Given the description of an element on the screen output the (x, y) to click on. 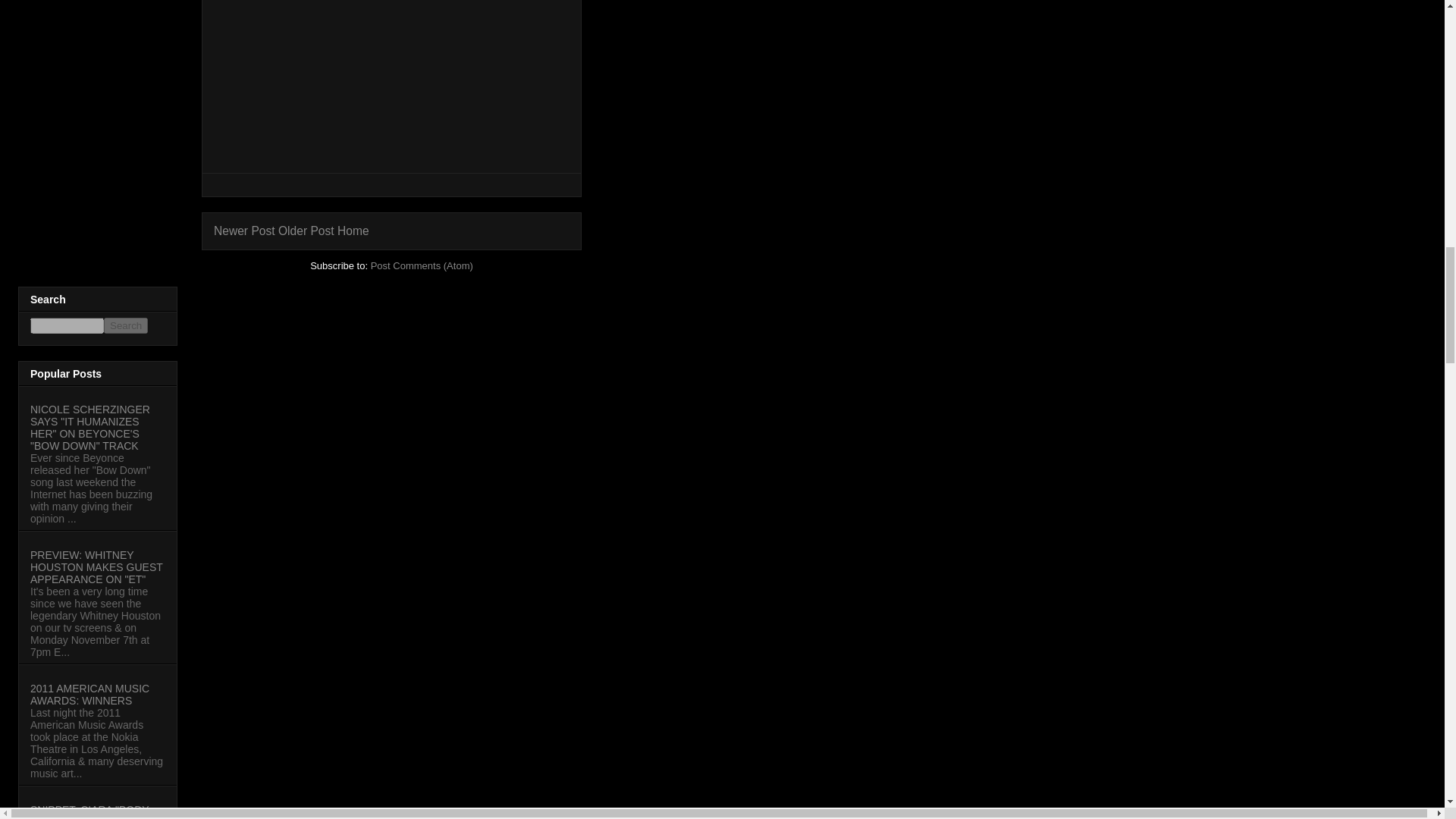
Newer Post (244, 230)
search (66, 325)
search (125, 325)
PREVIEW: WHITNEY HOUSTON MAKES GUEST APPEARANCE ON "ET" (96, 566)
Search (125, 325)
2011 AMERICAN MUSIC AWARDS: WINNERS (89, 694)
Older Post (306, 230)
Older Post (306, 230)
Home (353, 230)
Newer Post (244, 230)
Search (125, 325)
Search (125, 325)
